Given the description of an element on the screen output the (x, y) to click on. 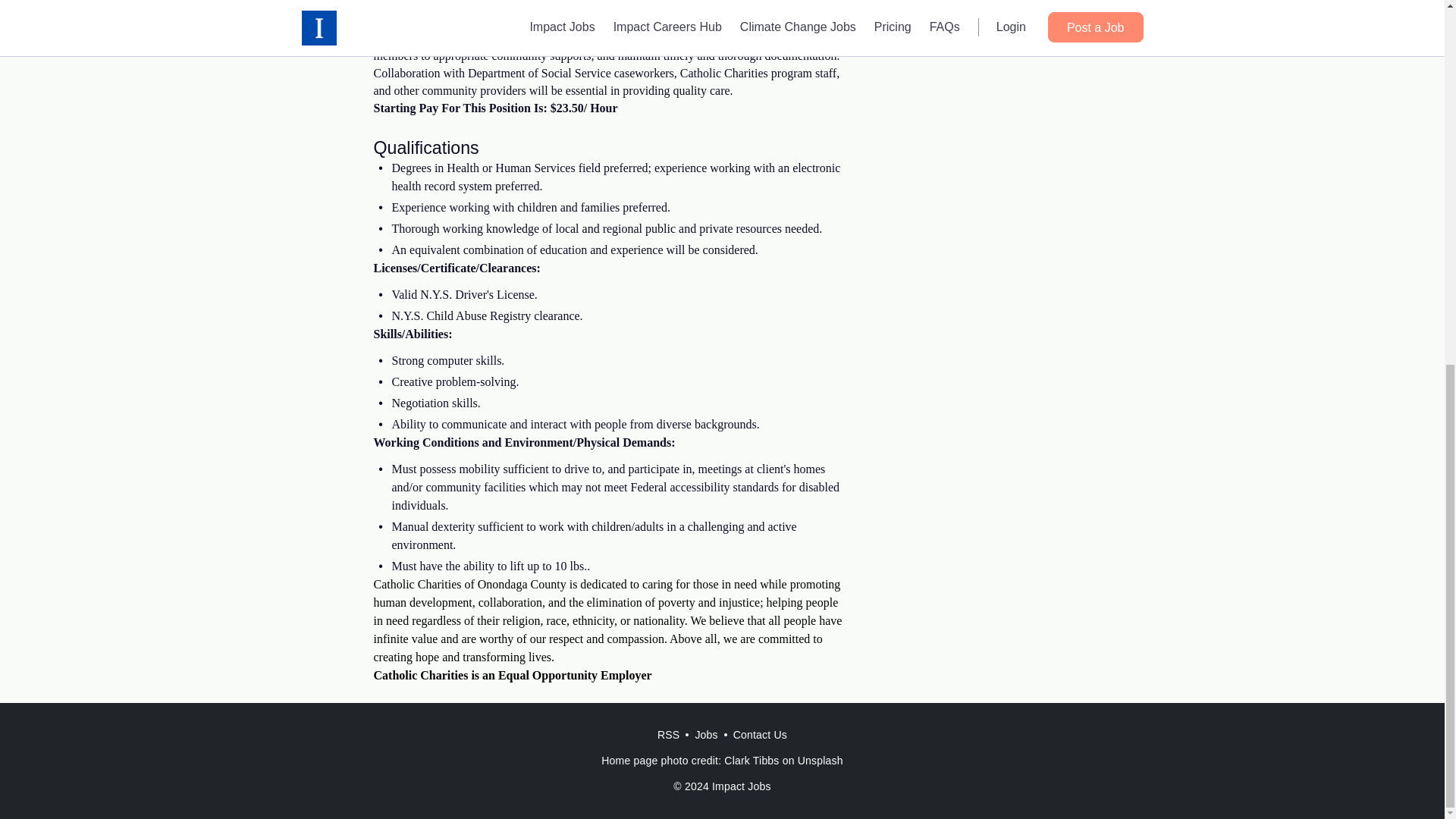
Jobs (706, 734)
Unsplash (820, 760)
Clark Tibbs (750, 760)
Contact Us (759, 734)
RSS (668, 734)
